Given the description of an element on the screen output the (x, y) to click on. 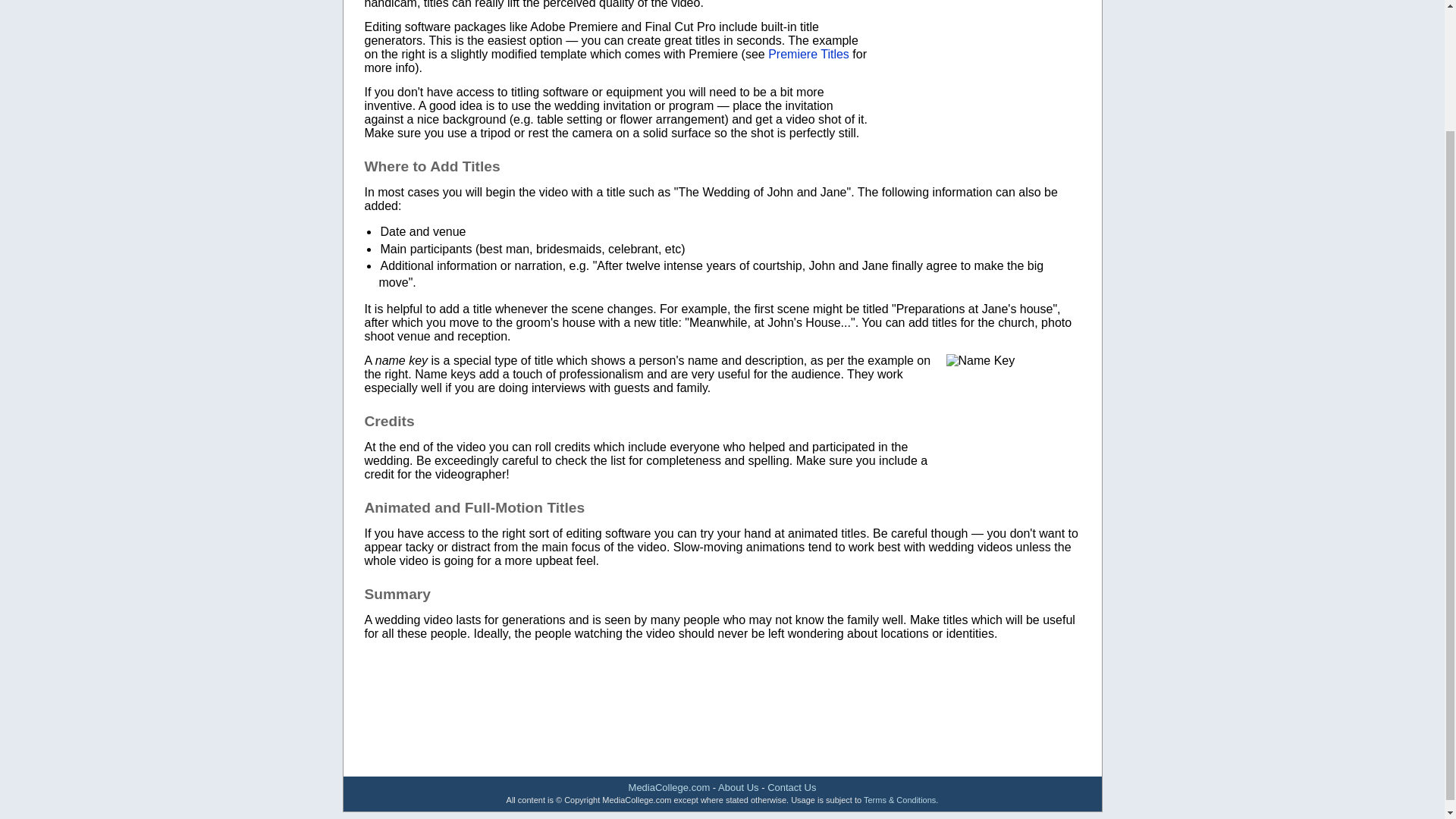
About Us (737, 787)
Contact Us (791, 787)
Premiere Titles (808, 53)
MediaCollege.com (669, 787)
